Given the description of an element on the screen output the (x, y) to click on. 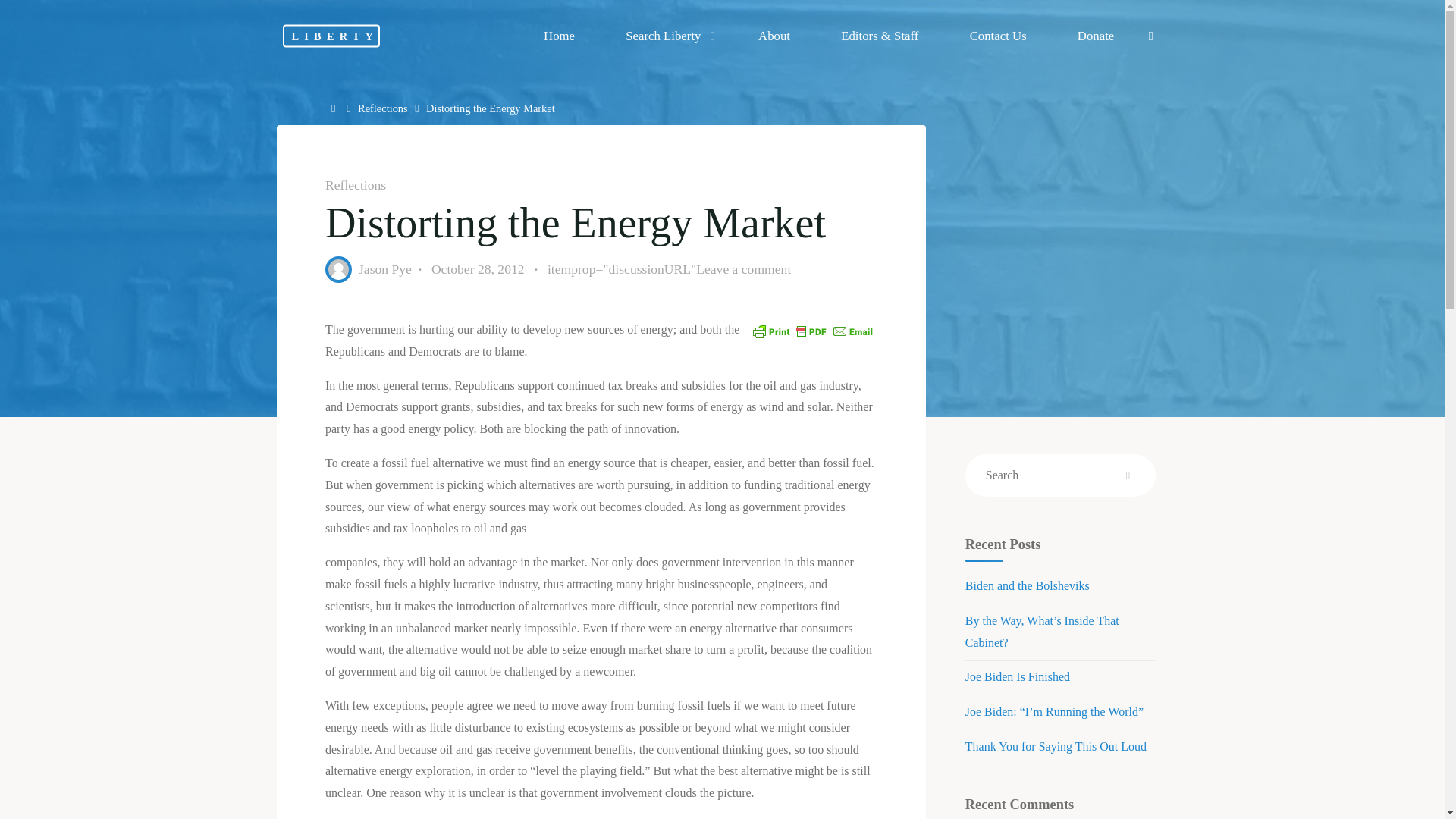
Donate (1095, 35)
Jason Pye (384, 268)
LIBERTY (331, 35)
View all posts by Jason Pye (384, 268)
Home (334, 108)
Home (558, 35)
Search Liberty (666, 35)
Contact Us (997, 35)
Home (334, 108)
About (773, 35)
Reflections (382, 108)
Jump to comments (668, 269)
Leave a comment (742, 268)
Reflections (354, 184)
